Given the description of an element on the screen output the (x, y) to click on. 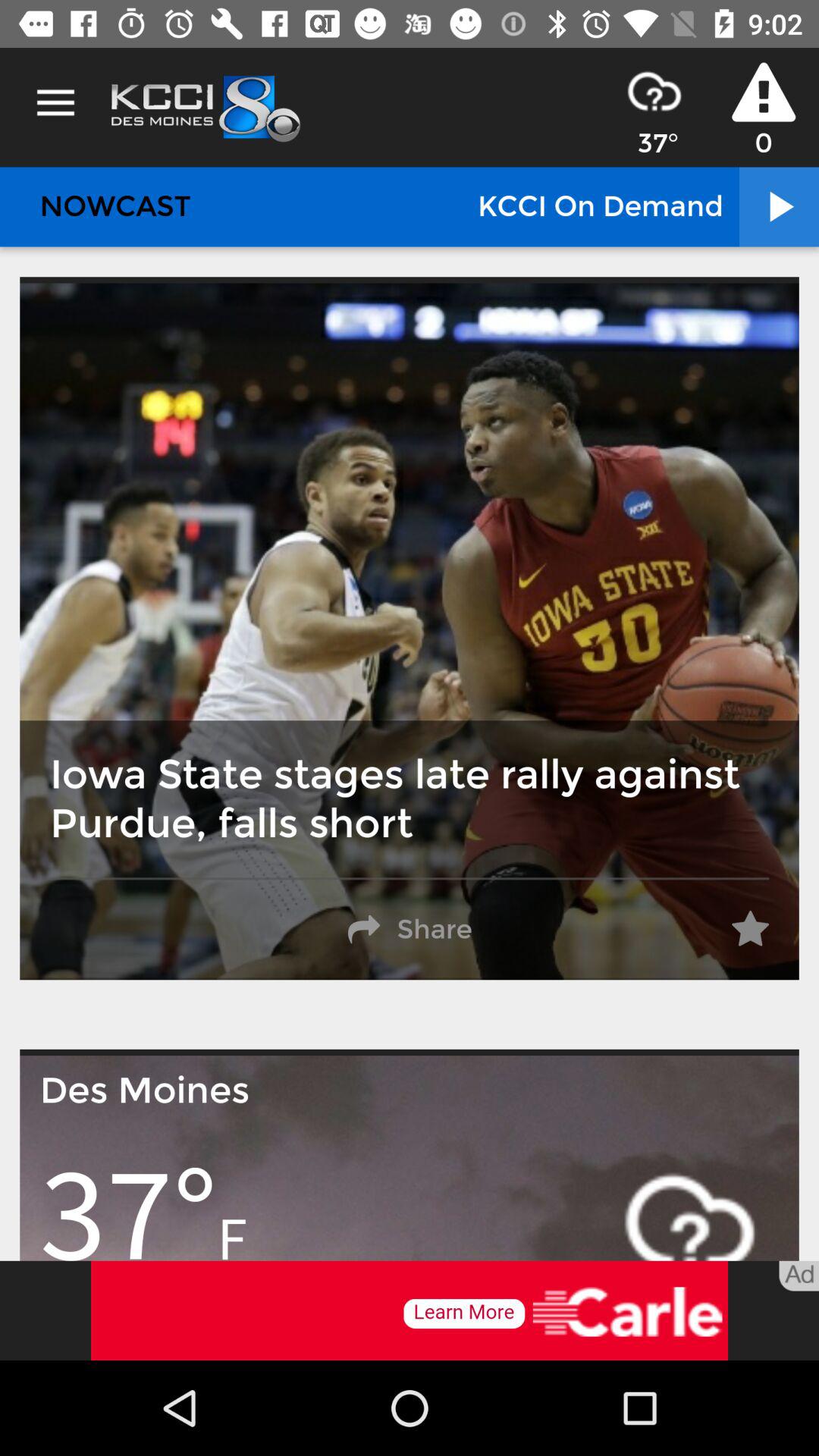
this is an advertisement (409, 1310)
